Given the description of an element on the screen output the (x, y) to click on. 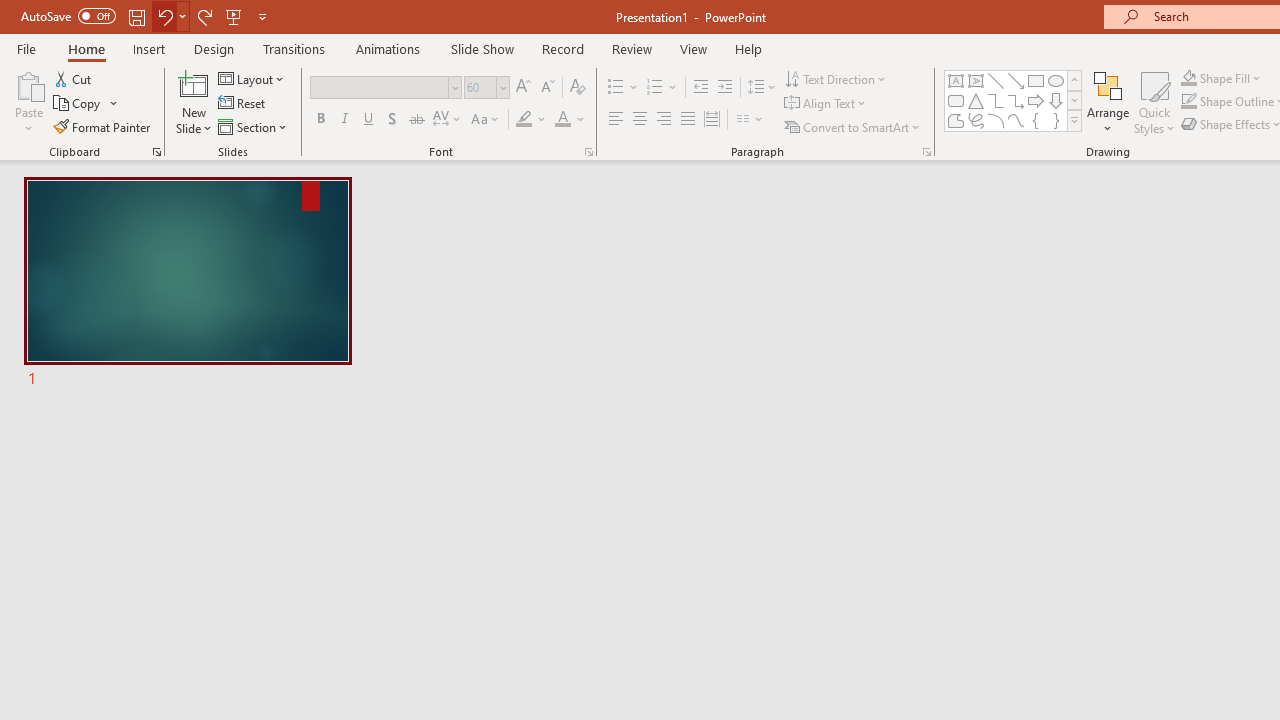
Shape Outline Blue, Accent 1 (1188, 101)
